Given the description of an element on the screen output the (x, y) to click on. 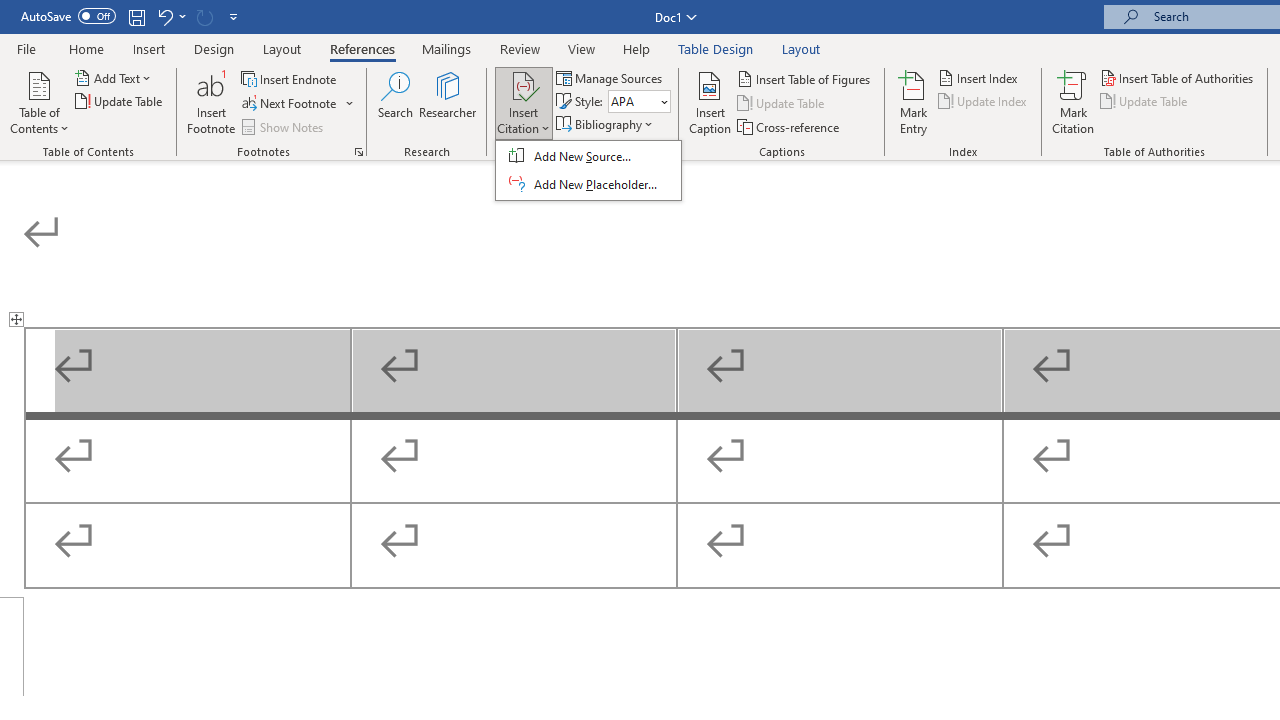
&Insert Citation (588, 169)
Insert Table of Figures... (804, 78)
Insert Caption... (710, 102)
Insert Footnote (211, 102)
Footnote and Endnote Dialog... (358, 151)
Next Footnote (298, 103)
Insert Table of Authorities... (1177, 78)
Update Table (1145, 101)
Mark Entry... (913, 102)
Update Table... (119, 101)
